Given the description of an element on the screen output the (x, y) to click on. 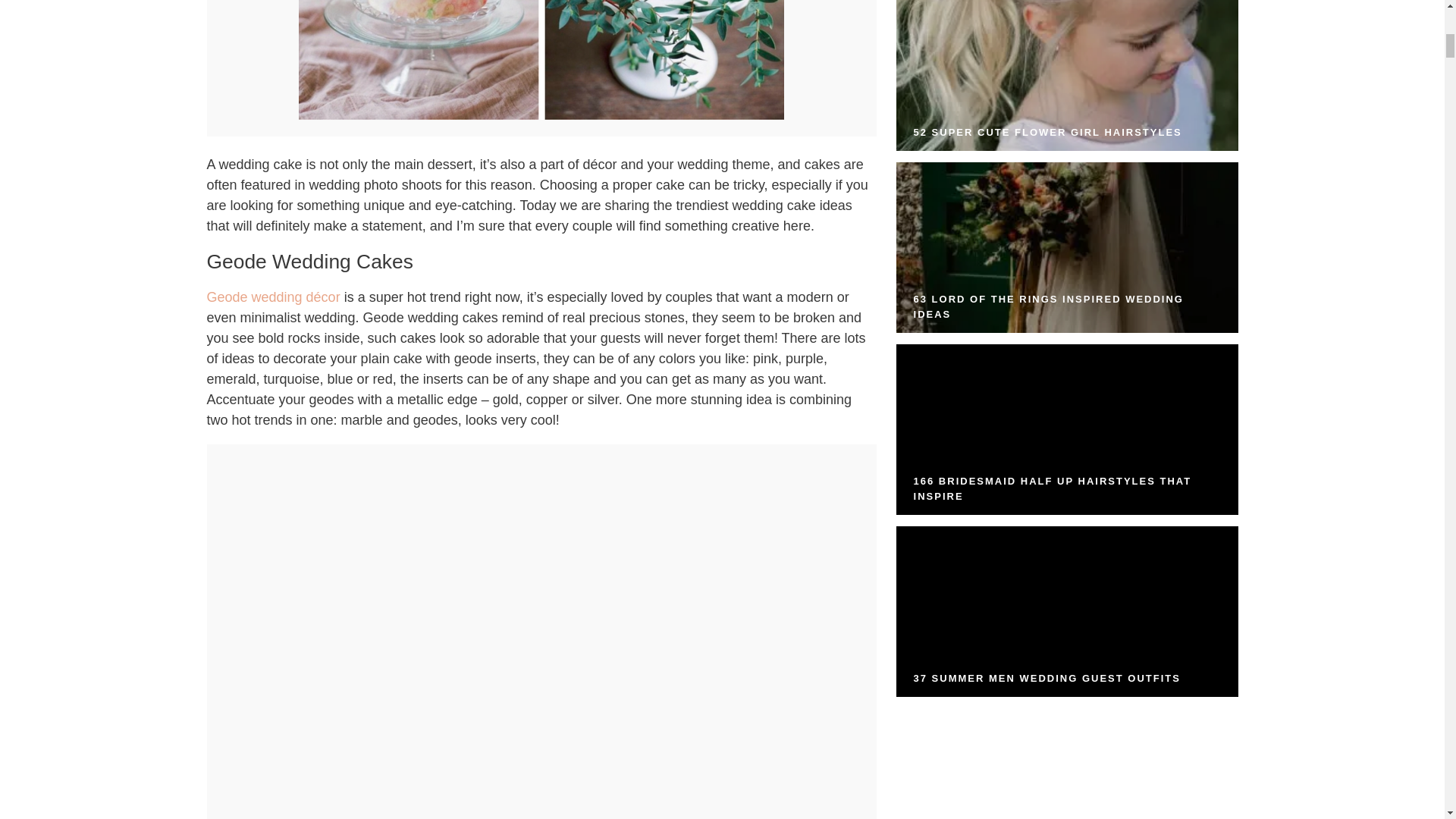
trendiest cake types and 38 examples (541, 60)
trendiest cake types and 38 examples (541, 115)
